Given the description of an element on the screen output the (x, y) to click on. 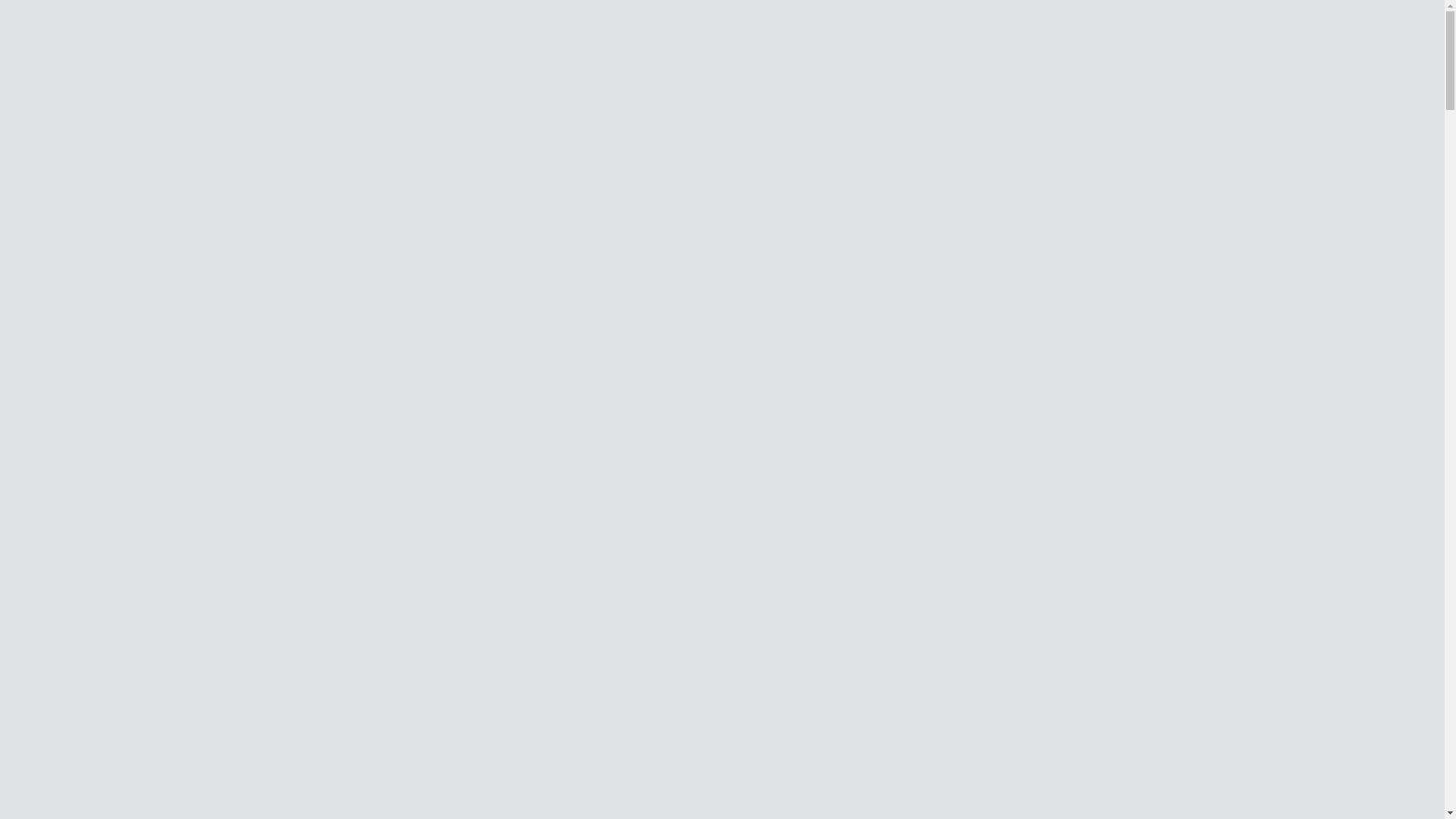
Shop Element type: text (43, 279)
Gift Vouchers Element type: text (100, 492)
Shop Element type: text (18, 279)
Food Element type: text (78, 465)
Takeaway Menu Element type: text (106, 479)
Visit Element type: text (56, 349)
Book a Table Element type: text (737, 581)
Contact Us Element type: text (63, 191)
Book a Tasting Element type: text (737, 522)
Drink Element type: text (80, 451)
Enter Now Element type: text (35, 71)
Visit Element type: text (101, 345)
Shop Element type: text (48, 97)
